Given the description of an element on the screen output the (x, y) to click on. 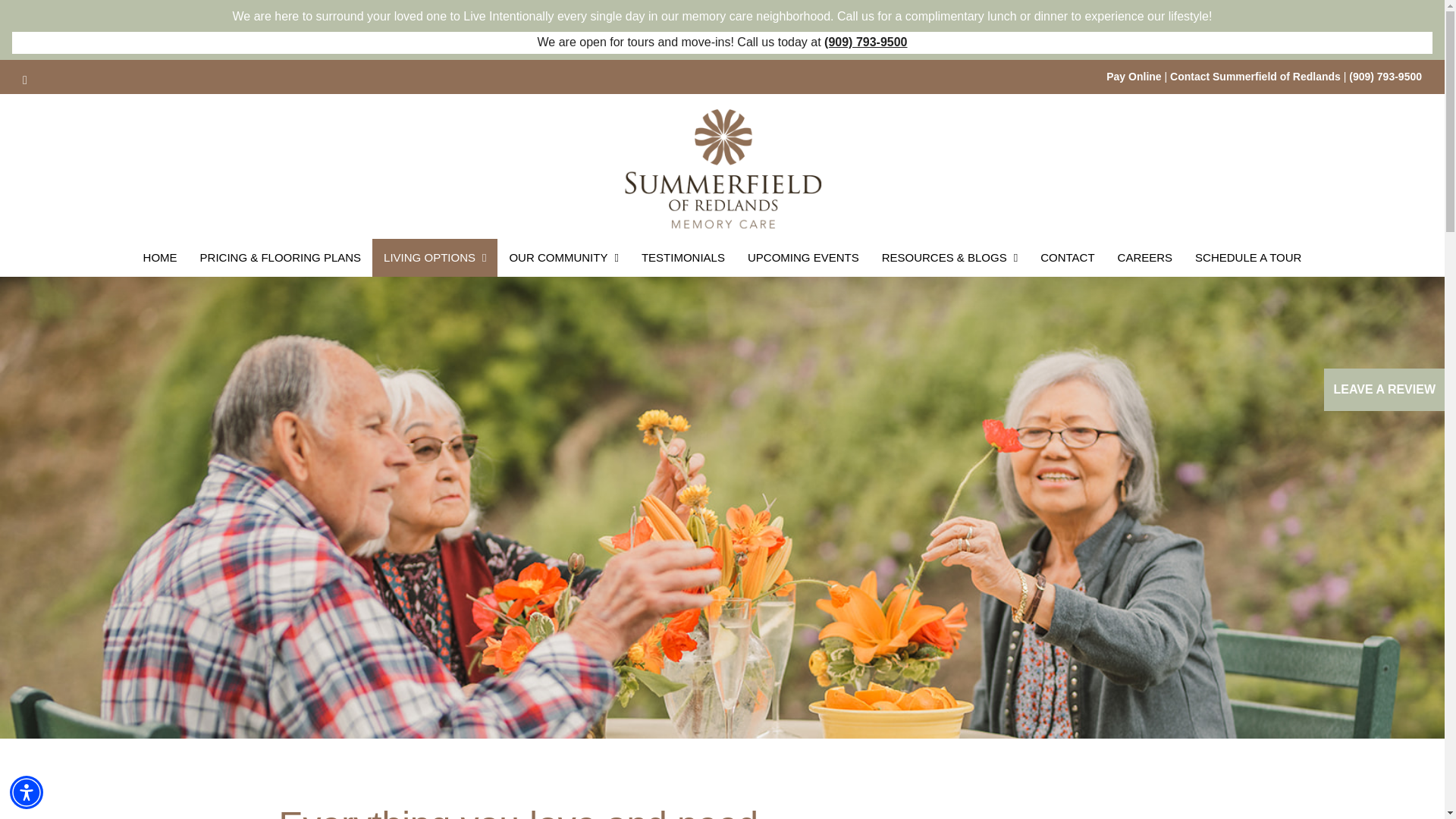
CAREERS (1145, 257)
OUR COMMUNITY (562, 257)
Accessibility Menu (26, 792)
UPCOMING EVENTS (803, 257)
Contact Summerfield of Redlands (1255, 76)
LIVING OPTIONS (434, 257)
TESTIMONIALS (683, 257)
Pay Online (1133, 76)
SCHEDULE A TOUR (1248, 257)
HOME (160, 257)
CONTACT (1067, 257)
